Given the description of an element on the screen output the (x, y) to click on. 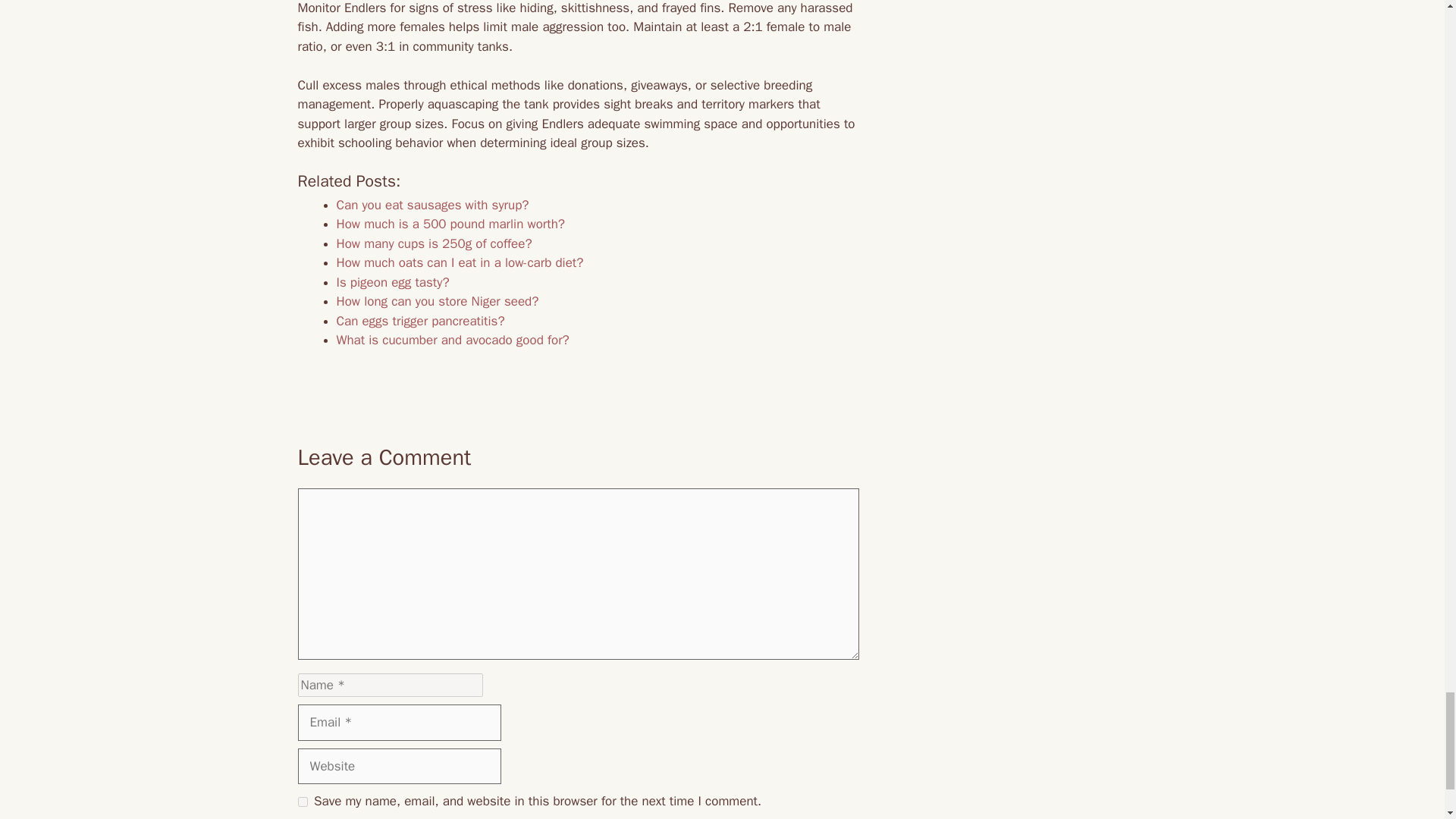
How long can you store Niger seed? (437, 301)
Can you eat sausages with syrup? (432, 204)
Can you eat sausages with syrup? (432, 204)
How much oats can I eat in a low-carb diet? (459, 262)
How much is a 500 pound marlin worth? (451, 223)
Is pigeon egg tasty? (392, 282)
How much is a 500 pound marlin worth? (451, 223)
yes (302, 801)
What is cucumber and avocado good for? (452, 340)
How many cups is 250g of coffee? (434, 243)
